Given the description of an element on the screen output the (x, y) to click on. 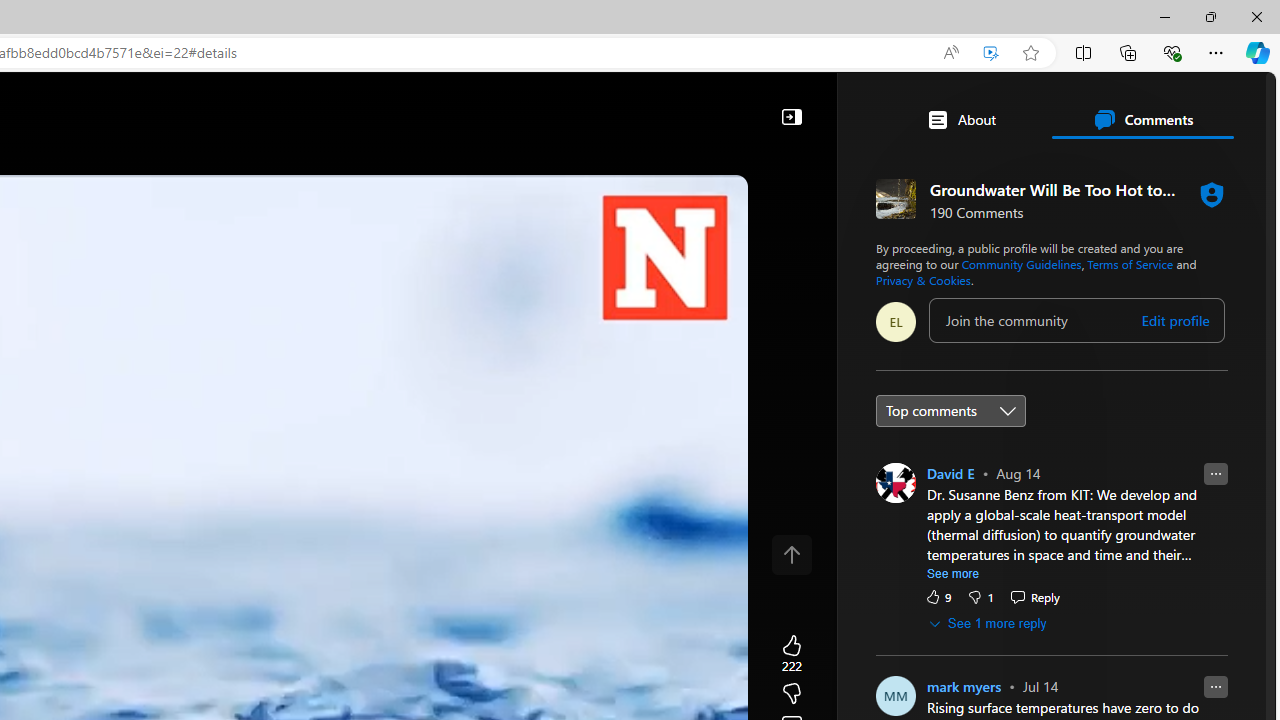
Community Guidelines (1021, 264)
mark myers (964, 686)
Ad Choice (1015, 439)
Open Copilot (355, 105)
Comments (1142, 119)
David E (950, 473)
Report comment (1215, 686)
Reply Reply Comment (1033, 596)
Profile Picture (895, 695)
Privacy & Cookies (923, 280)
Profile Picture (895, 482)
